Given the description of an element on the screen output the (x, y) to click on. 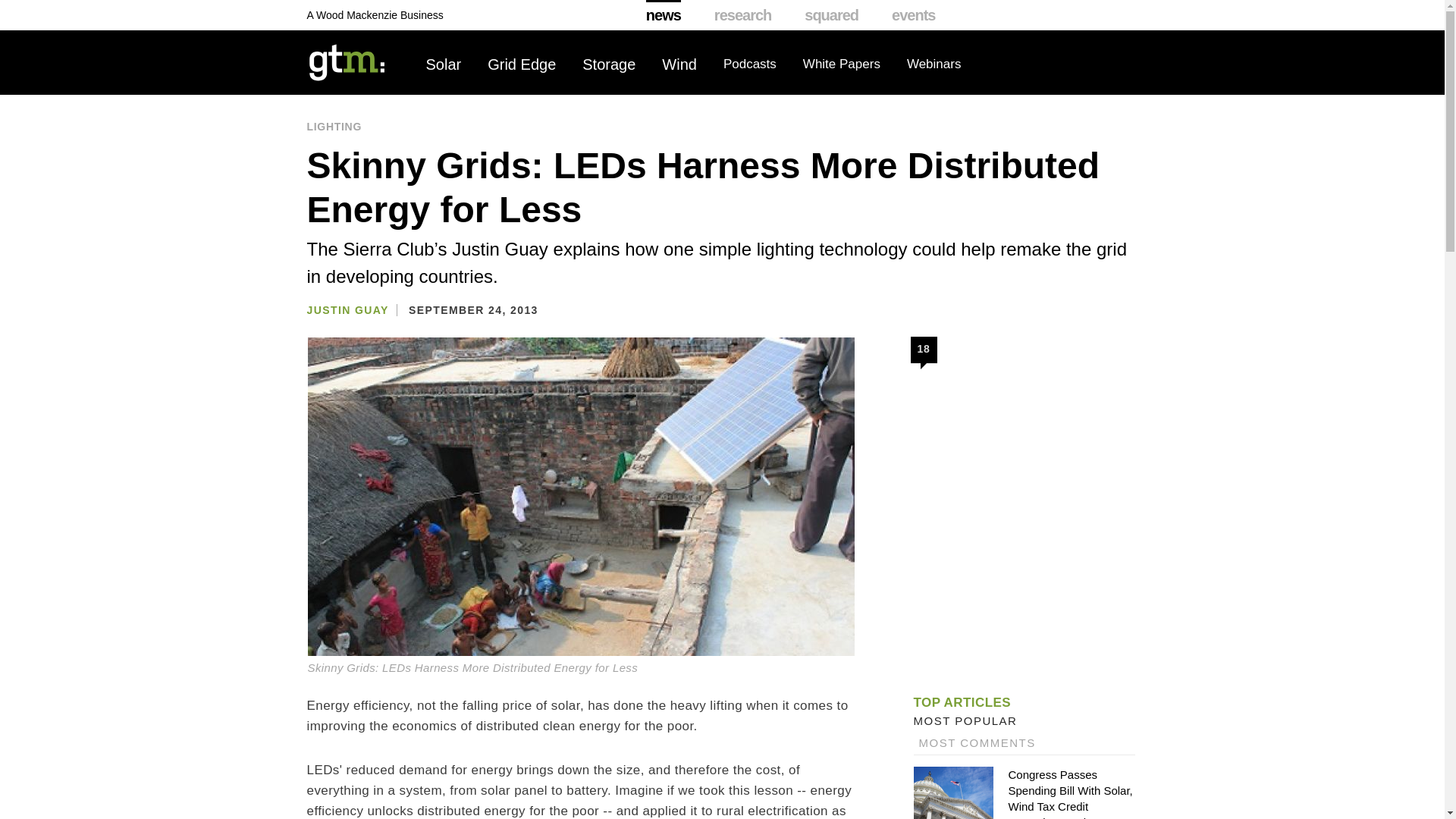
research (742, 15)
Storage (608, 64)
news (663, 15)
White Papers (841, 64)
Grid Edge (521, 64)
Podcasts (749, 64)
Solar (443, 64)
Wind (679, 64)
squared (832, 15)
events (912, 15)
